Given the description of an element on the screen output the (x, y) to click on. 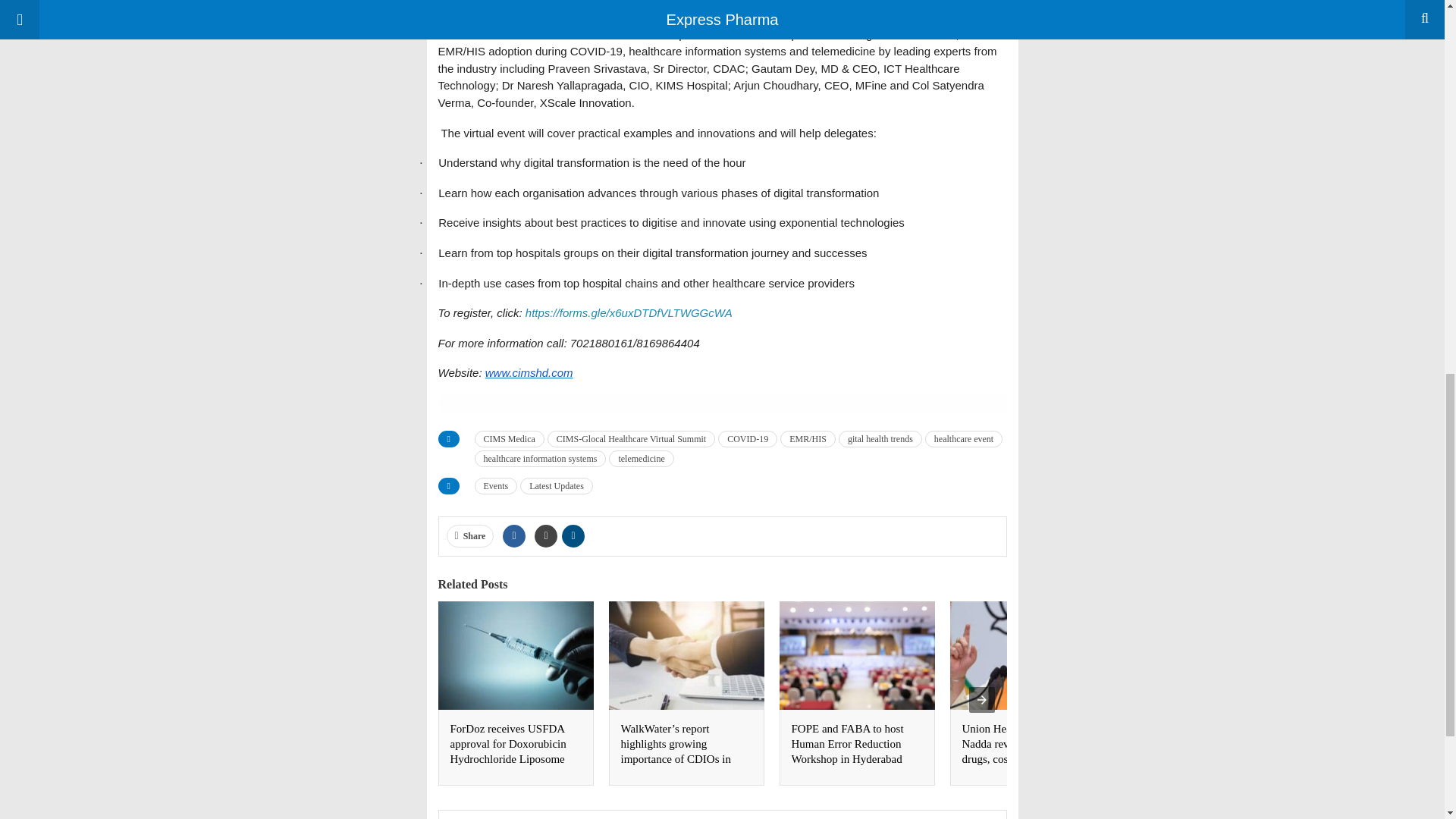
healthcare information systems (540, 458)
CIMS Medica (509, 438)
gital health trends (879, 438)
Events (496, 485)
CIMS-Glocal Healthcare Virtual Summit (630, 438)
Latest Updates (555, 485)
telemedicine (640, 458)
healthcare event (963, 438)
COVID-19 (747, 438)
www.cimshd.com (528, 372)
